Given the description of an element on the screen output the (x, y) to click on. 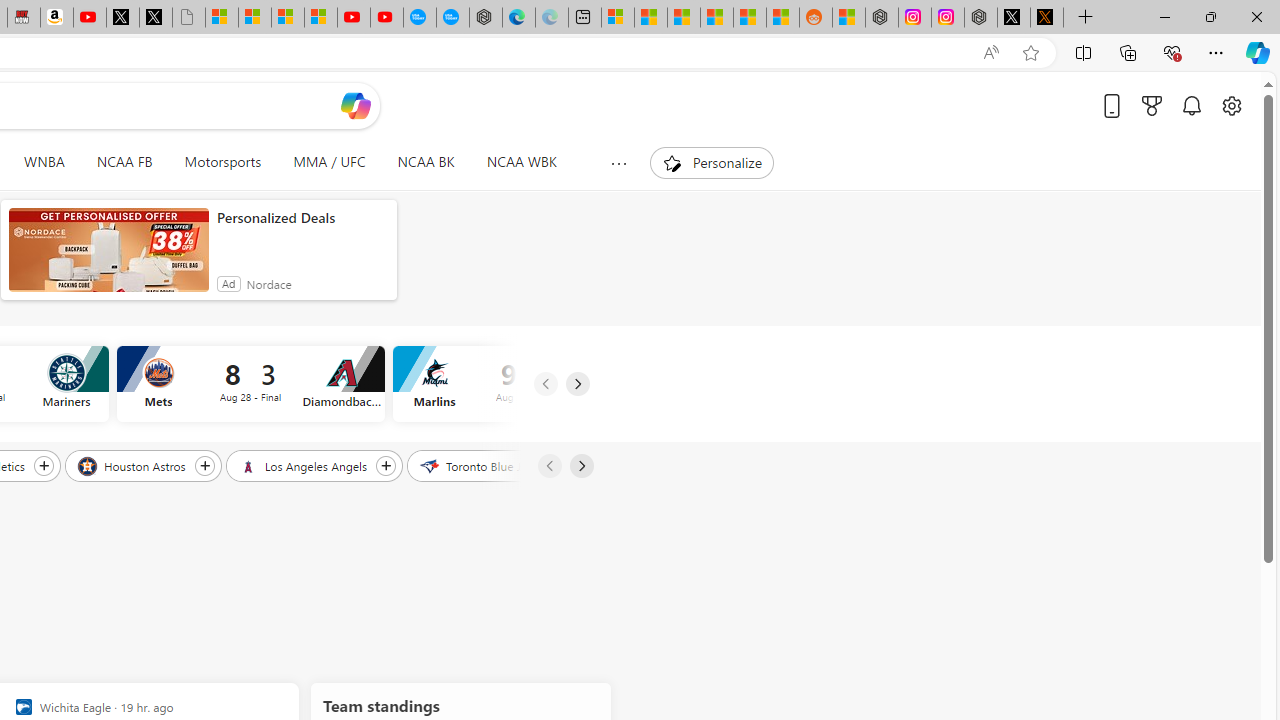
MMA / UFC (328, 162)
MMA / UFC (329, 162)
Motorsports (223, 162)
Follow Houston Astros (204, 465)
WNBA (43, 162)
Marlins 9 vs Rockies 8Final Date Aug 28 (525, 383)
Shanghai, China Weather trends | Microsoft Weather (782, 17)
Follow Oakland Athletics (43, 465)
